Given the description of an element on the screen output the (x, y) to click on. 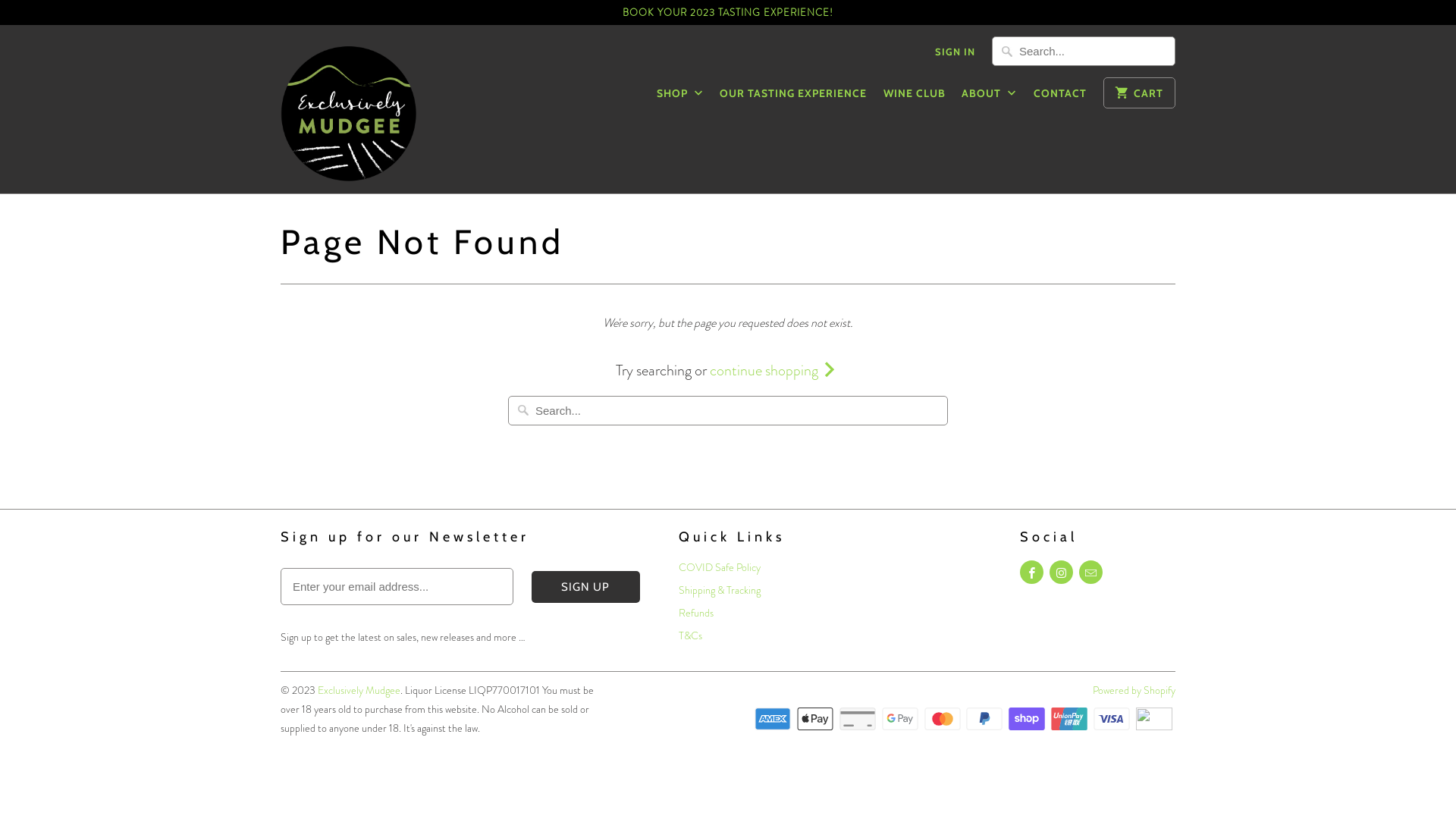
Exclusively Mudgee Element type: text (358, 689)
T&Cs Element type: text (690, 635)
Powered by Shopify Element type: text (1133, 689)
CONTACT Element type: text (1059, 96)
ABOUT Element type: text (988, 96)
Refunds Element type: text (695, 612)
Email Exclusively Mudgee Element type: hover (1090, 571)
SHOP Element type: text (679, 96)
Sign Up Element type: text (585, 586)
WINE CLUB Element type: text (914, 96)
OUR TASTING EXPERIENCE Element type: text (792, 96)
BOOK YOUR 2023 TASTING EXPERIENCE! Element type: text (727, 12)
continue shopping Element type: text (774, 370)
SIGN IN Element type: text (955, 54)
Exclusively Mudgee Element type: hover (348, 109)
COVID Safe Policy Element type: text (719, 566)
Exclusively Mudgee on Instagram Element type: hover (1061, 571)
Exclusively Mudgee on Facebook Element type: hover (1031, 571)
CART Element type: text (1139, 92)
Shipping & Tracking Element type: text (719, 589)
